Given the description of an element on the screen output the (x, y) to click on. 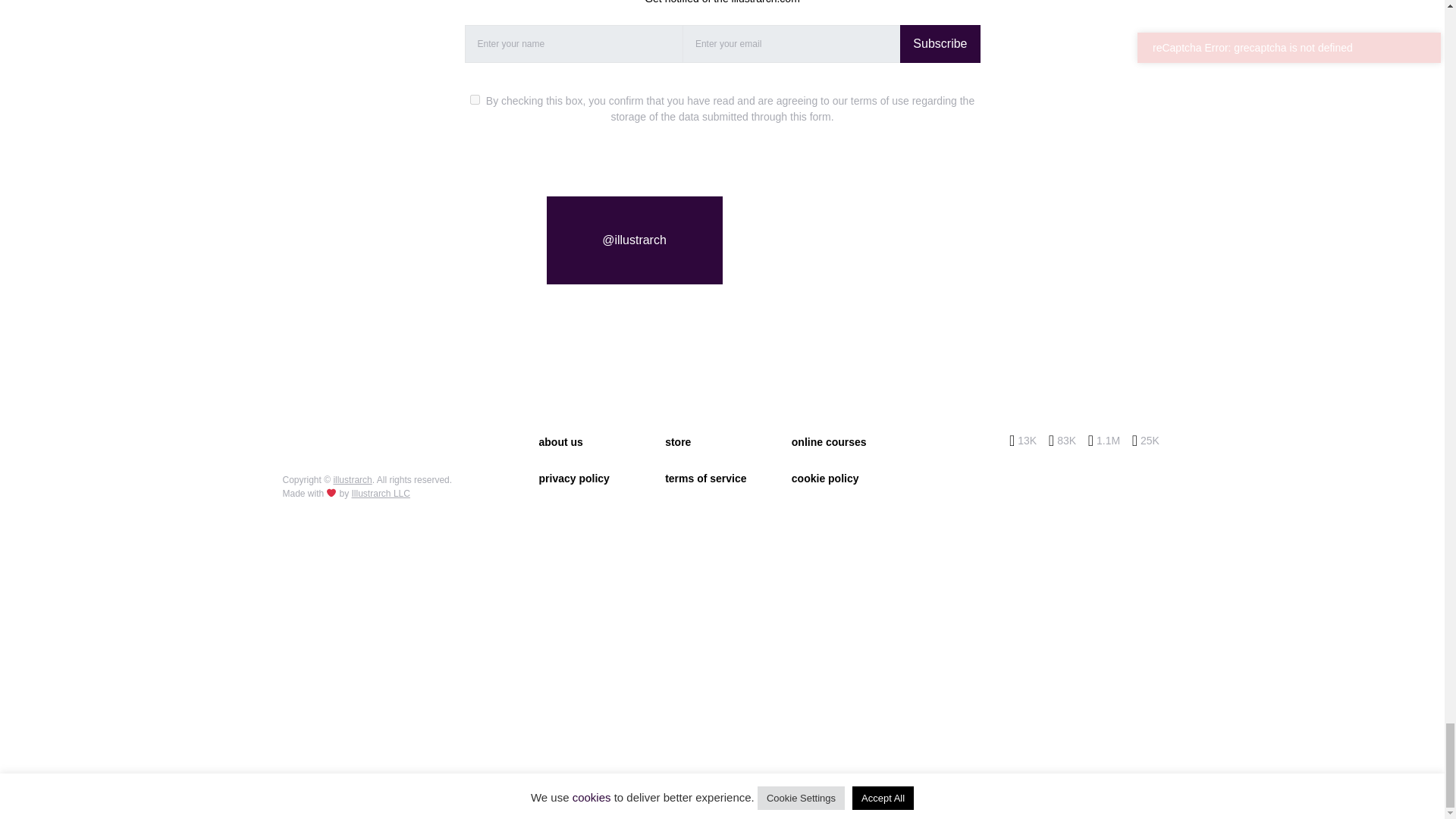
on (475, 99)
